Given the description of an element on the screen output the (x, y) to click on. 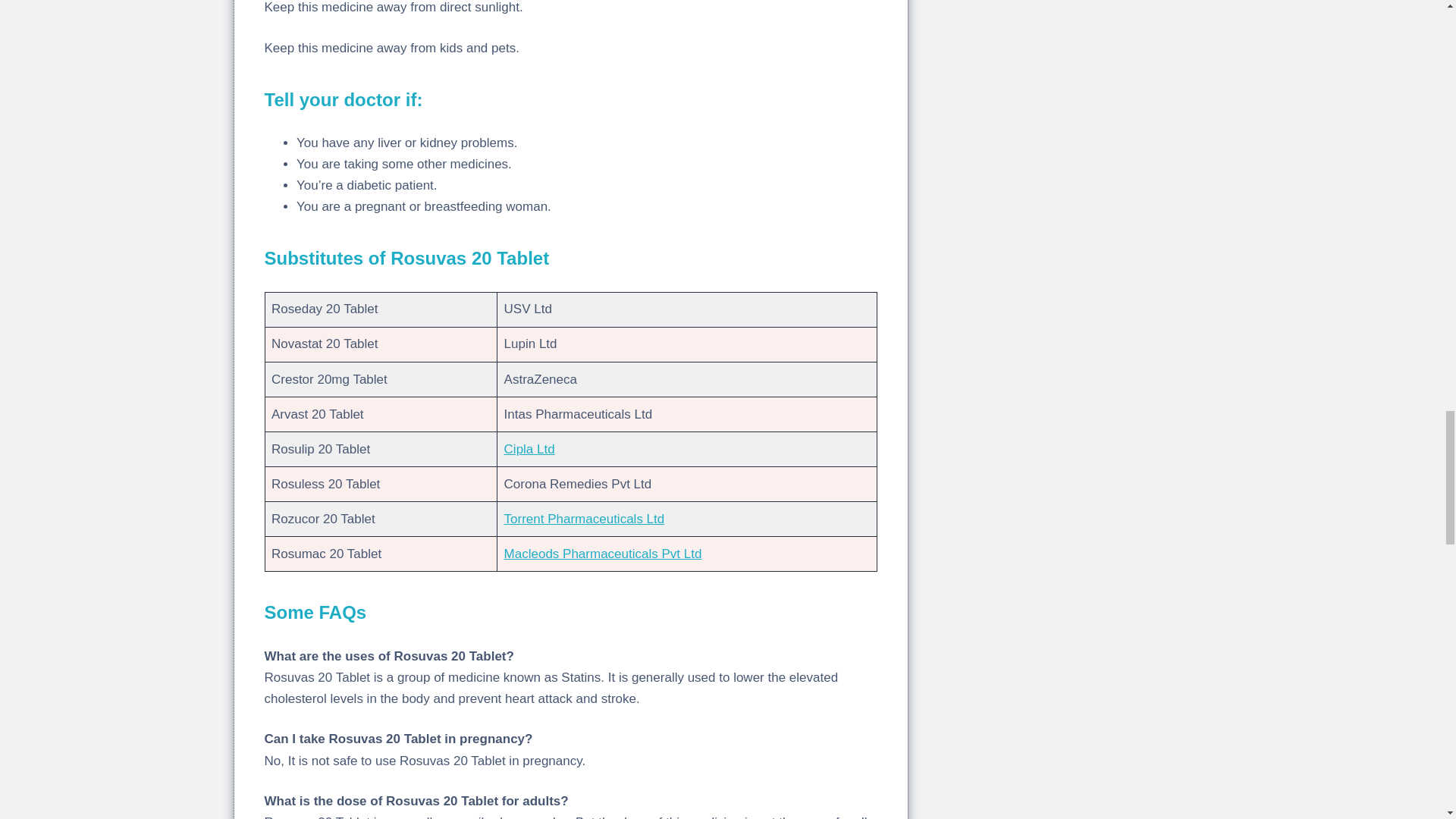
Macleods Pharmaceuticals Pvt Ltd (602, 554)
Cipla Ltd (528, 449)
Torrent Pharmaceuticals Ltd (584, 518)
